Given the description of an element on the screen output the (x, y) to click on. 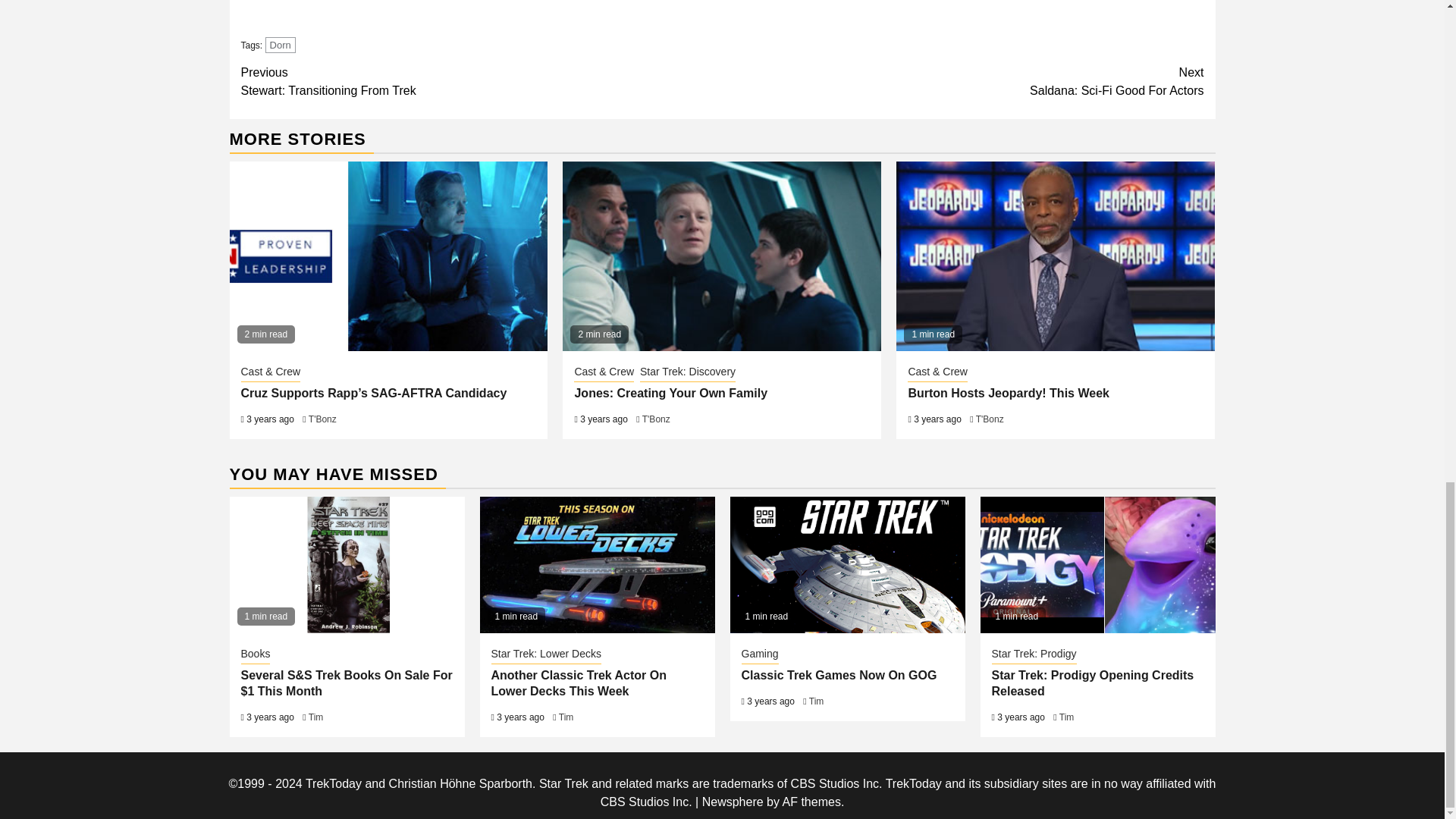
T'Bonz (322, 419)
Dorn (963, 81)
